Given the description of an element on the screen output the (x, y) to click on. 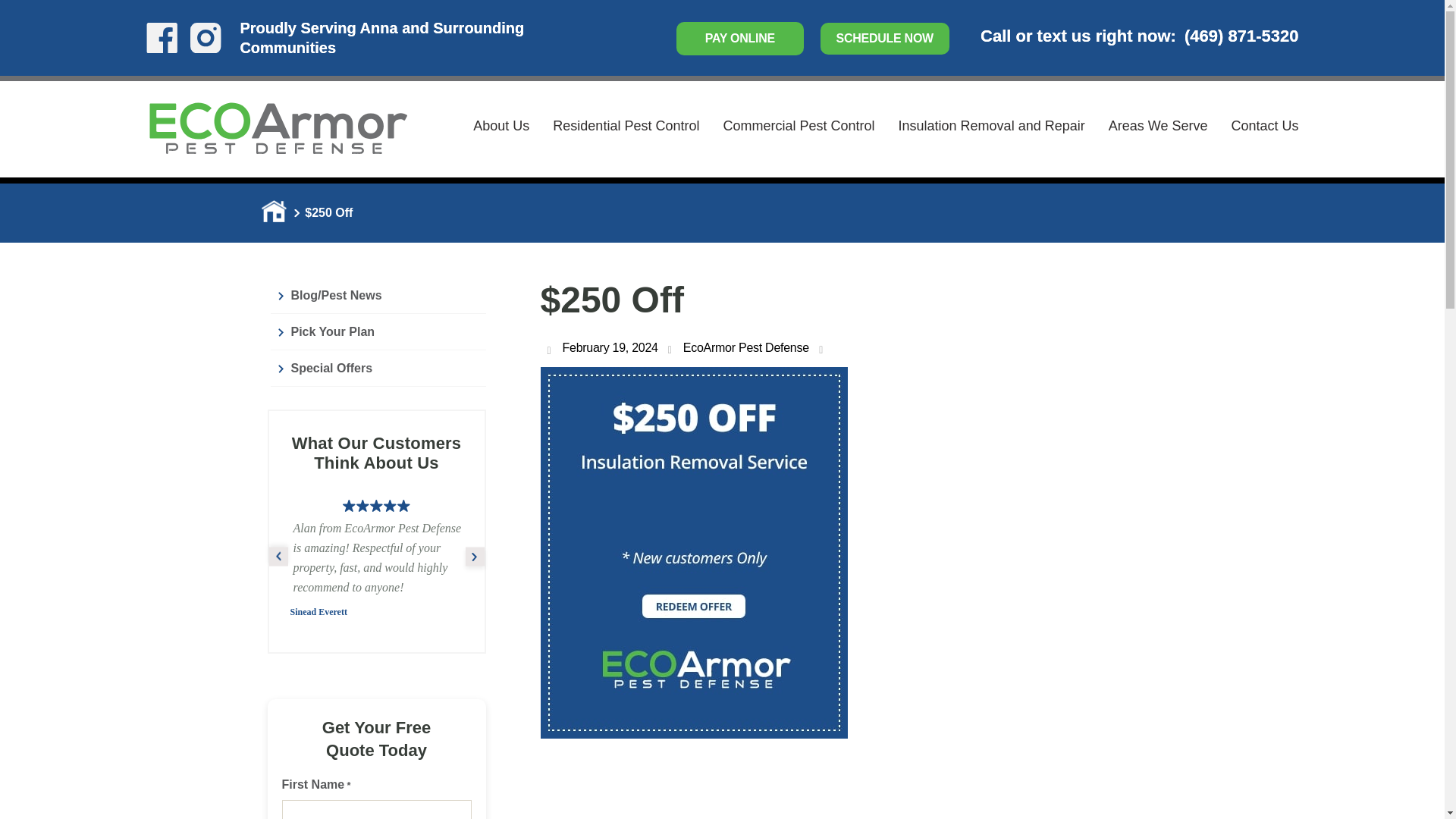
PAY ONLINE (740, 38)
About Us (501, 126)
Residential Pest Control (625, 126)
Areas We Serve (1158, 126)
Contact Us (1264, 126)
SCHEDULE NOW (885, 38)
Insulation Removal and Repair (991, 126)
Commercial Pest Control (798, 126)
